Given the description of an element on the screen output the (x, y) to click on. 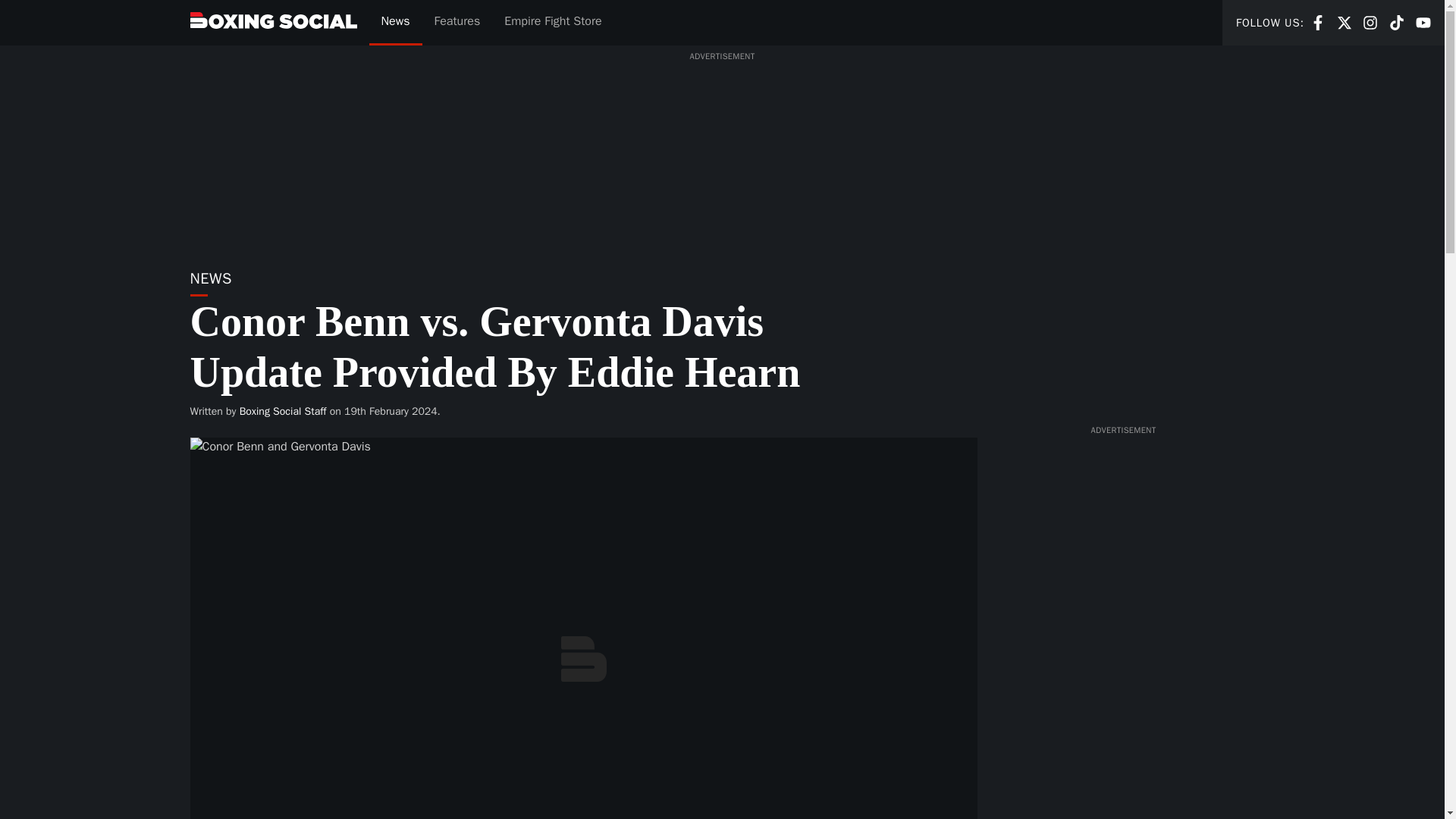
YOUTUBE (1423, 22)
Features (457, 22)
TIKTOK (1423, 21)
X (1397, 22)
FACEBOOK (1344, 21)
Boxing Social Staff (1344, 22)
News (1369, 21)
Empire Fight Store (1317, 22)
INSTAGRAM (283, 410)
